Given the description of an element on the screen output the (x, y) to click on. 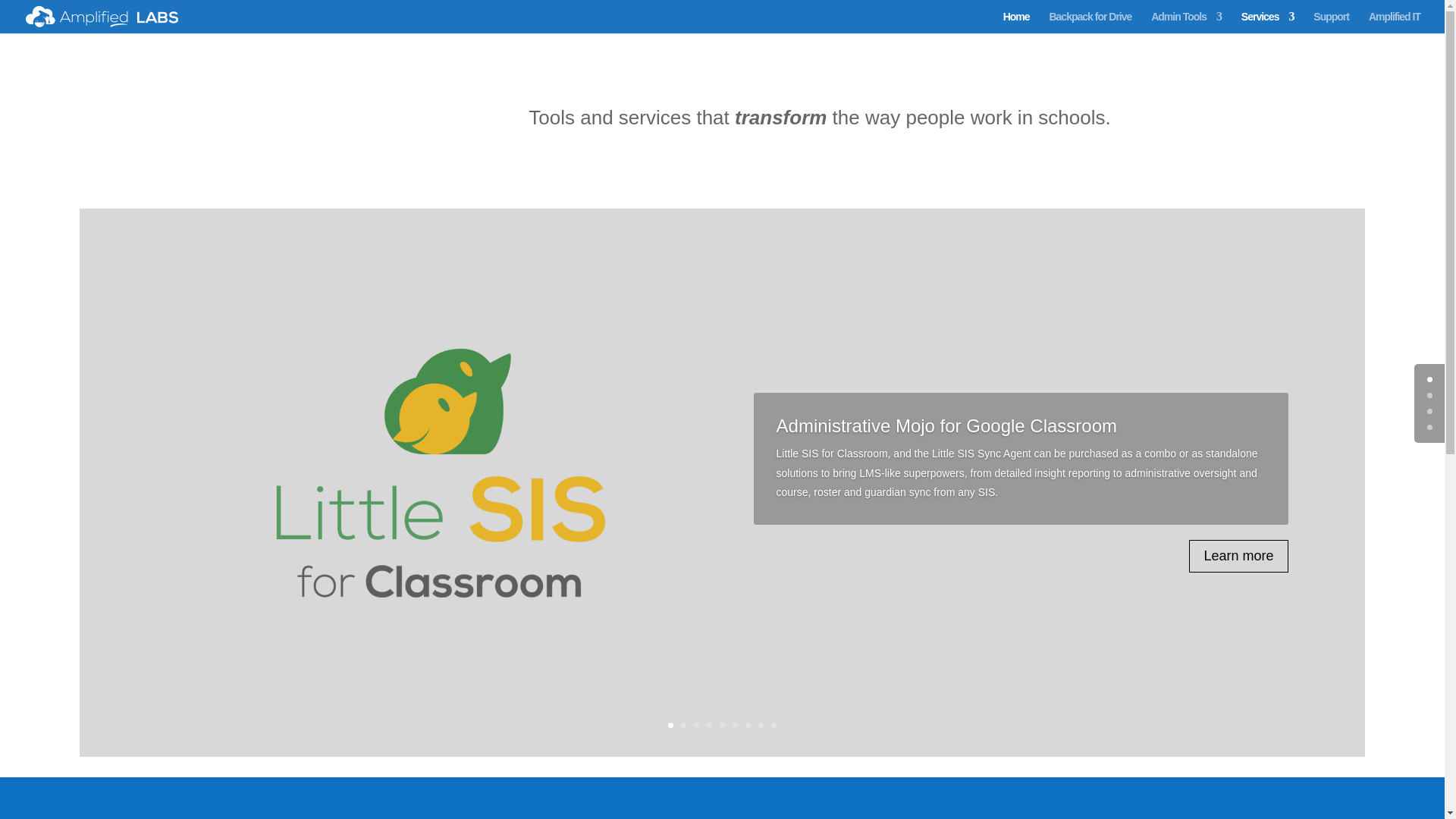
Services (1267, 22)
Amplified IT (1394, 22)
Home (1016, 22)
Support (1331, 22)
Admin Tools (1186, 22)
Backpack for Drive (1089, 22)
